Given the description of an element on the screen output the (x, y) to click on. 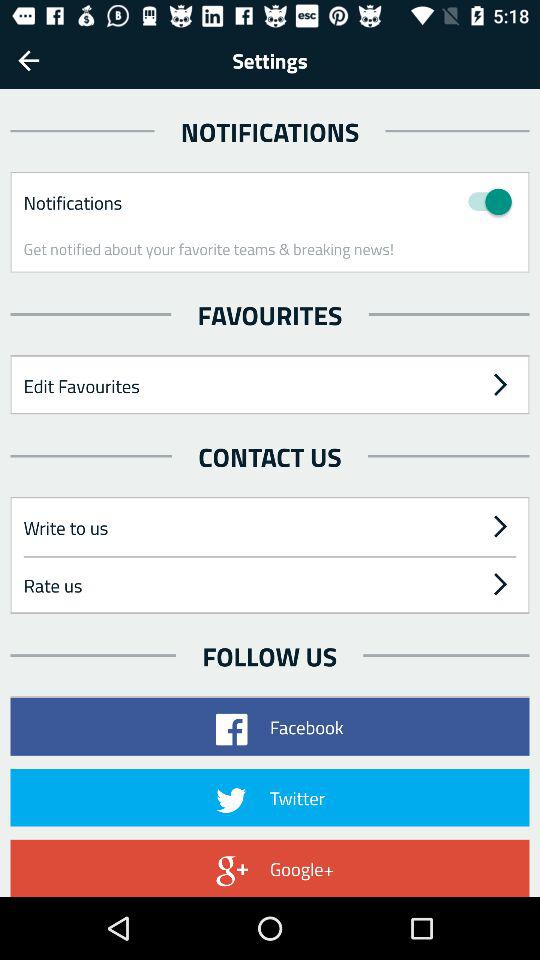
click the facebook button on the web page (269, 726)
click on the option twitter (269, 797)
